Given the description of an element on the screen output the (x, y) to click on. 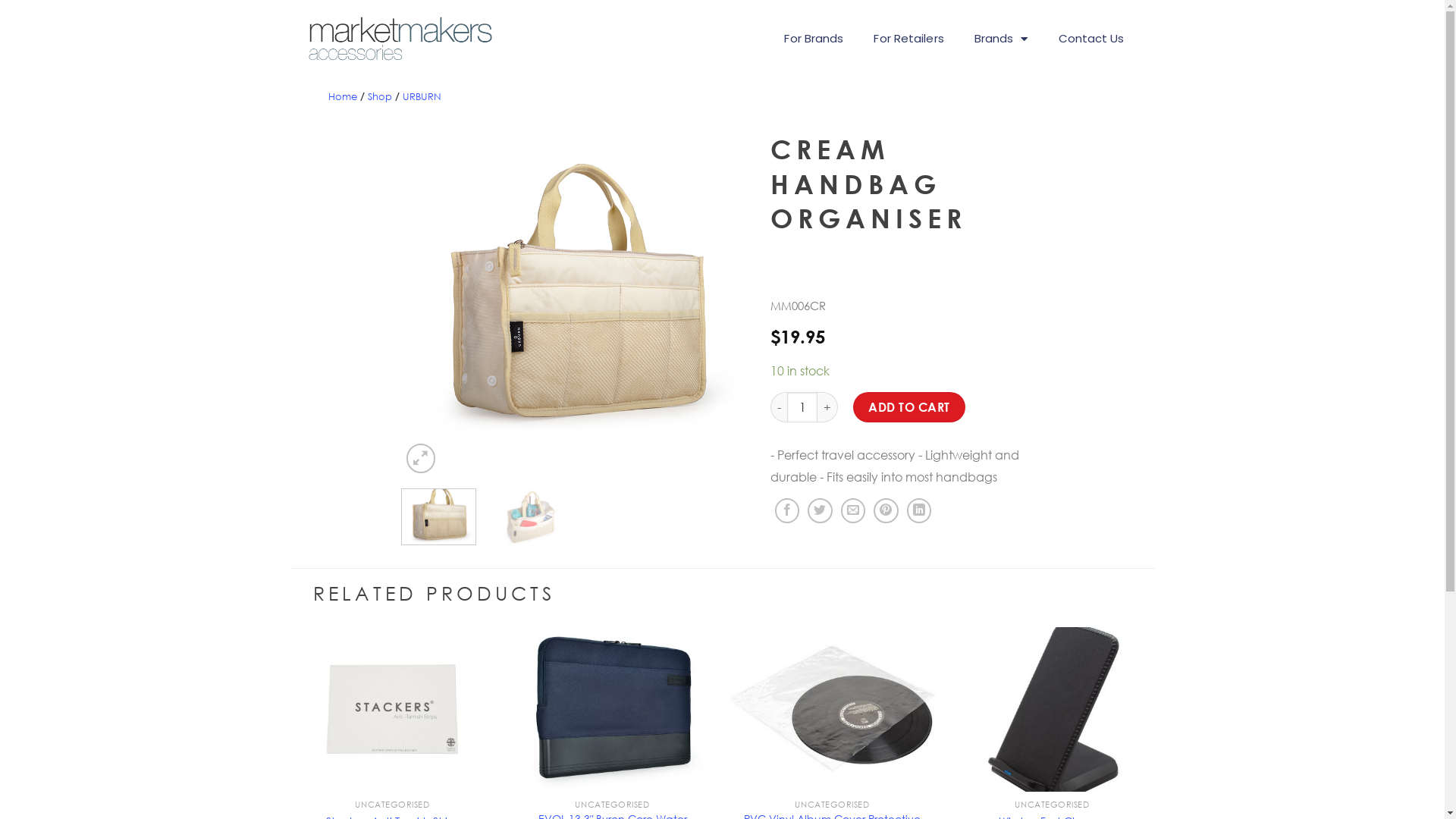
For Brands Element type: text (813, 38)
URBURN Element type: text (420, 95)
Shop Element type: text (379, 95)
ADD TO CART Element type: text (909, 407)
MM006 CR Element type: hover (574, 299)
Qty Element type: hover (802, 407)
Contact Us Element type: text (1091, 38)
Brands Element type: text (1001, 38)
For Retailers Element type: text (908, 38)
Home Element type: text (341, 95)
